Given the description of an element on the screen output the (x, y) to click on. 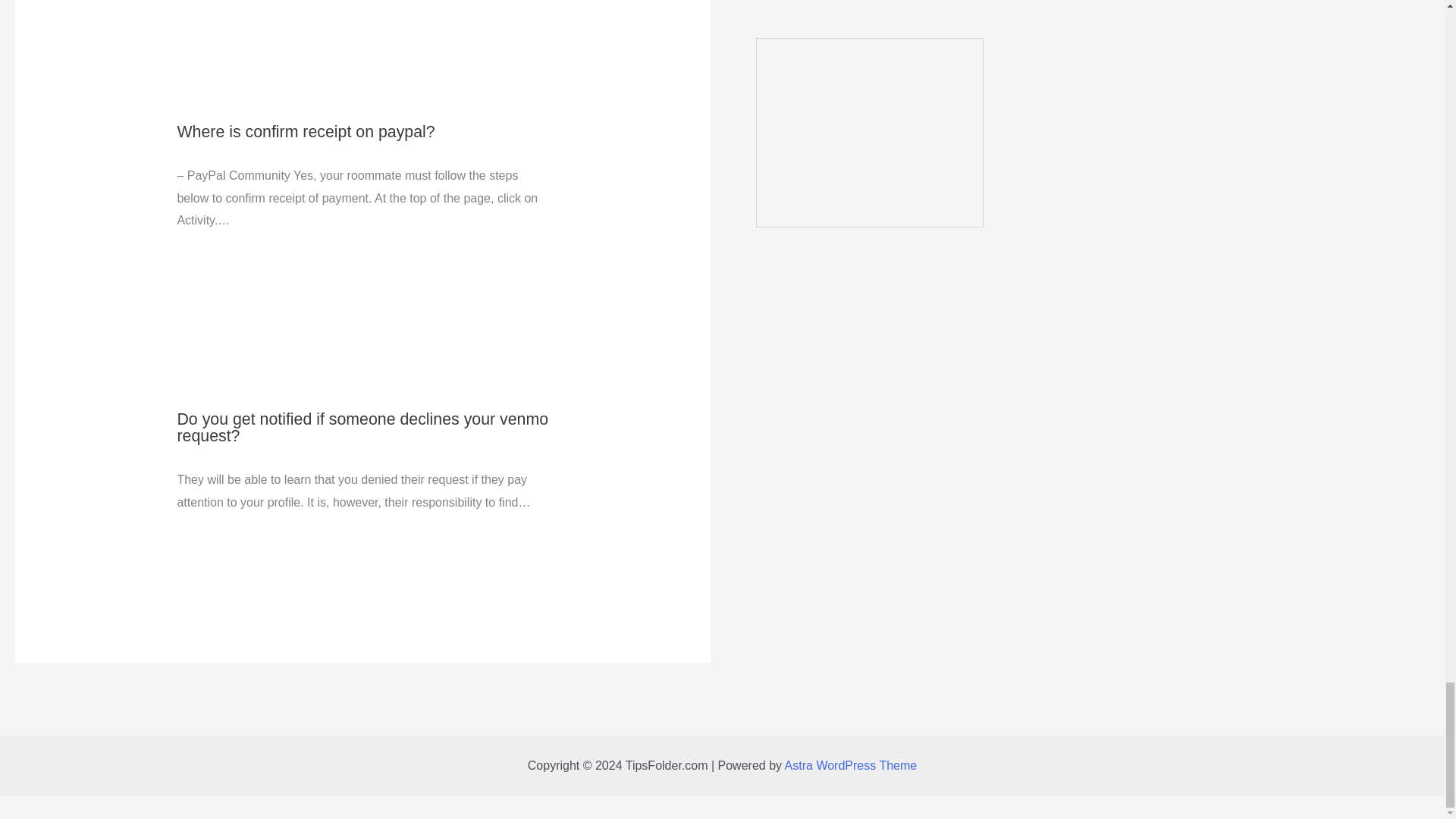
Astra WordPress Theme (850, 765)
Do you get notified if someone declines your venmo request? (362, 427)
Where is confirm receipt on paypal? (304, 131)
